Given the description of an element on the screen output the (x, y) to click on. 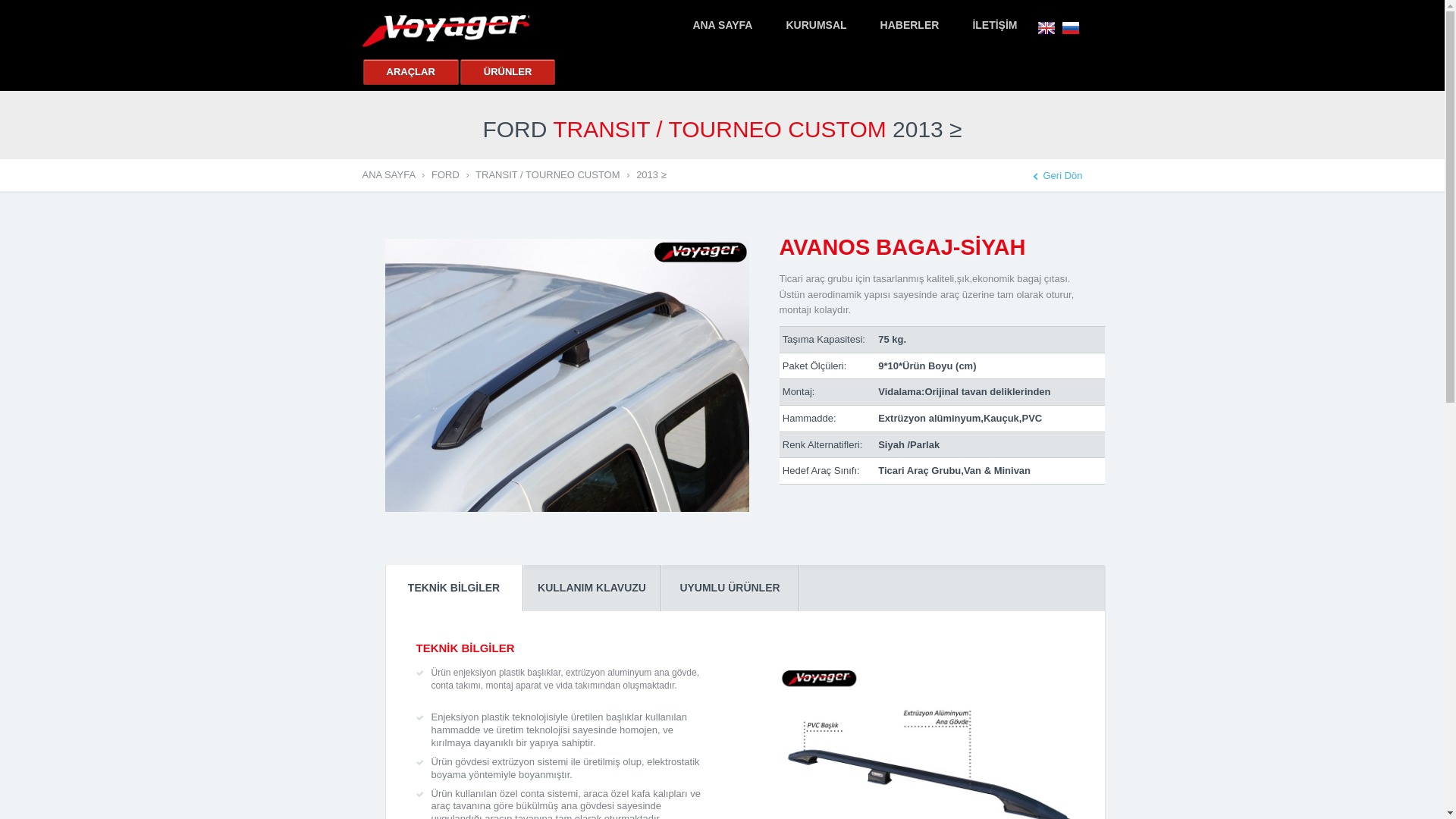
ANA SAYFA (722, 25)
HABERLER (909, 25)
KURUMSAL (815, 25)
